Given the description of an element on the screen output the (x, y) to click on. 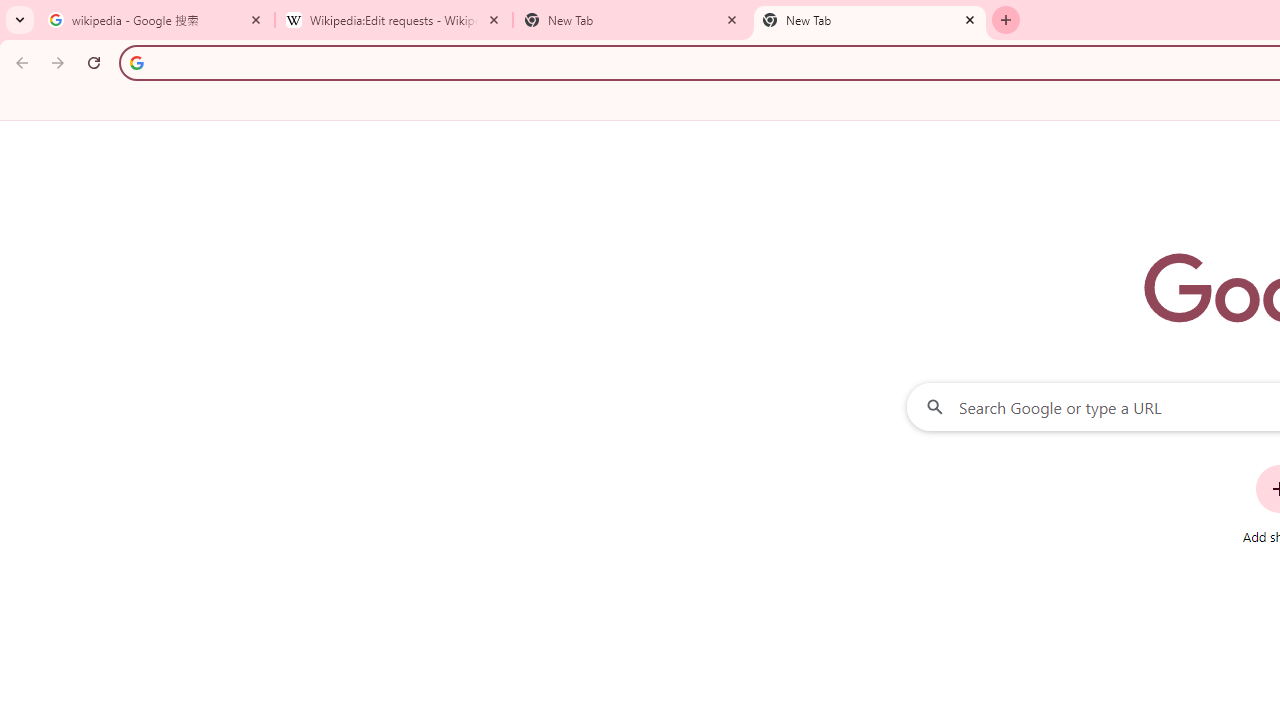
New Tab (632, 20)
Search icon (136, 62)
New Tab (870, 20)
Wikipedia:Edit requests - Wikipedia (394, 20)
